Given the description of an element on the screen output the (x, y) to click on. 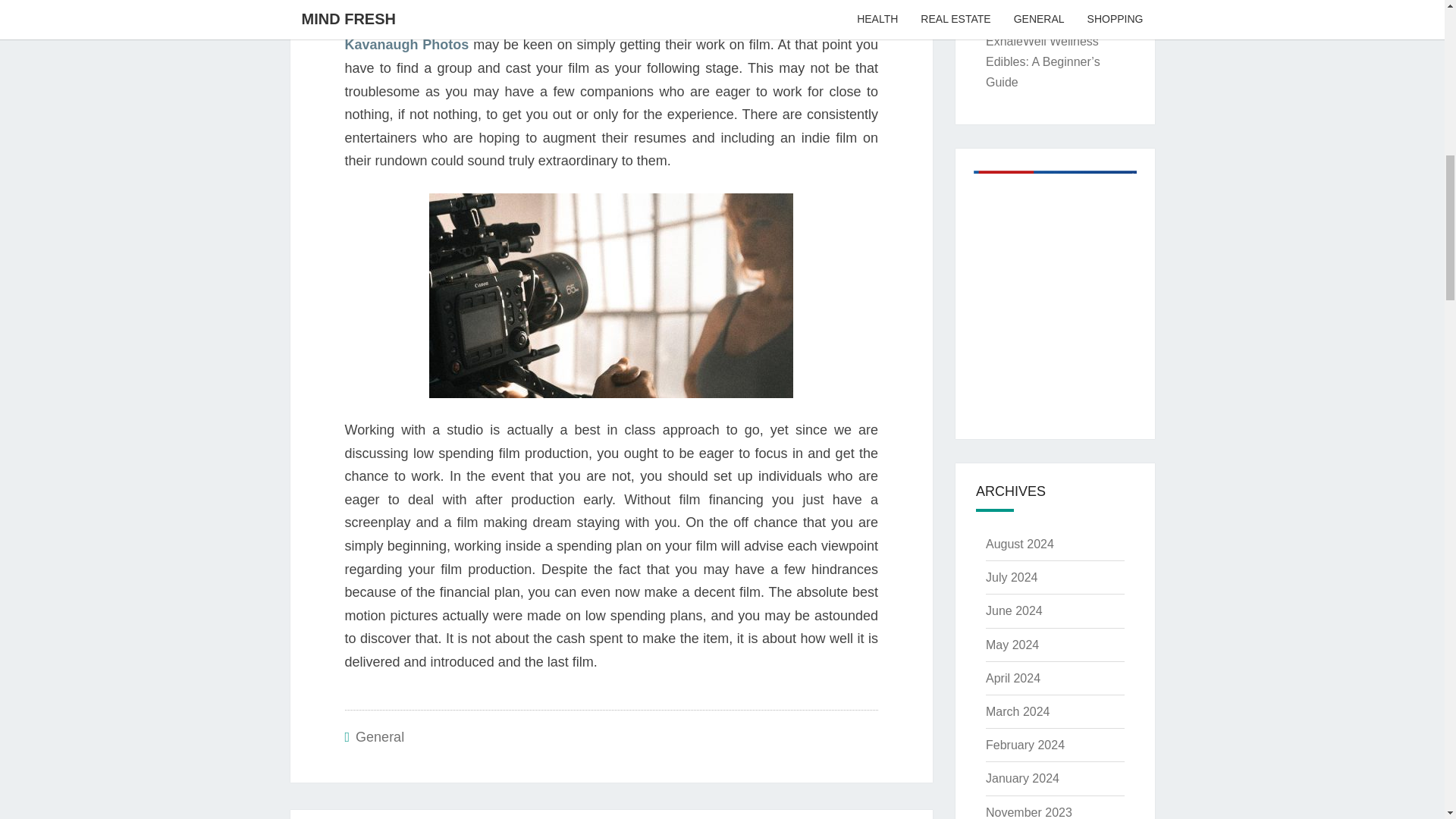
May 2024 (1012, 644)
February 2024 (1024, 744)
Ryan Kavanaugh Photos (610, 33)
August 2024 (1019, 543)
January 2024 (1022, 778)
April 2024 (1013, 677)
November 2023 (1028, 812)
July 2024 (1011, 576)
March 2024 (1017, 711)
June 2024 (1013, 610)
